Given the description of an element on the screen output the (x, y) to click on. 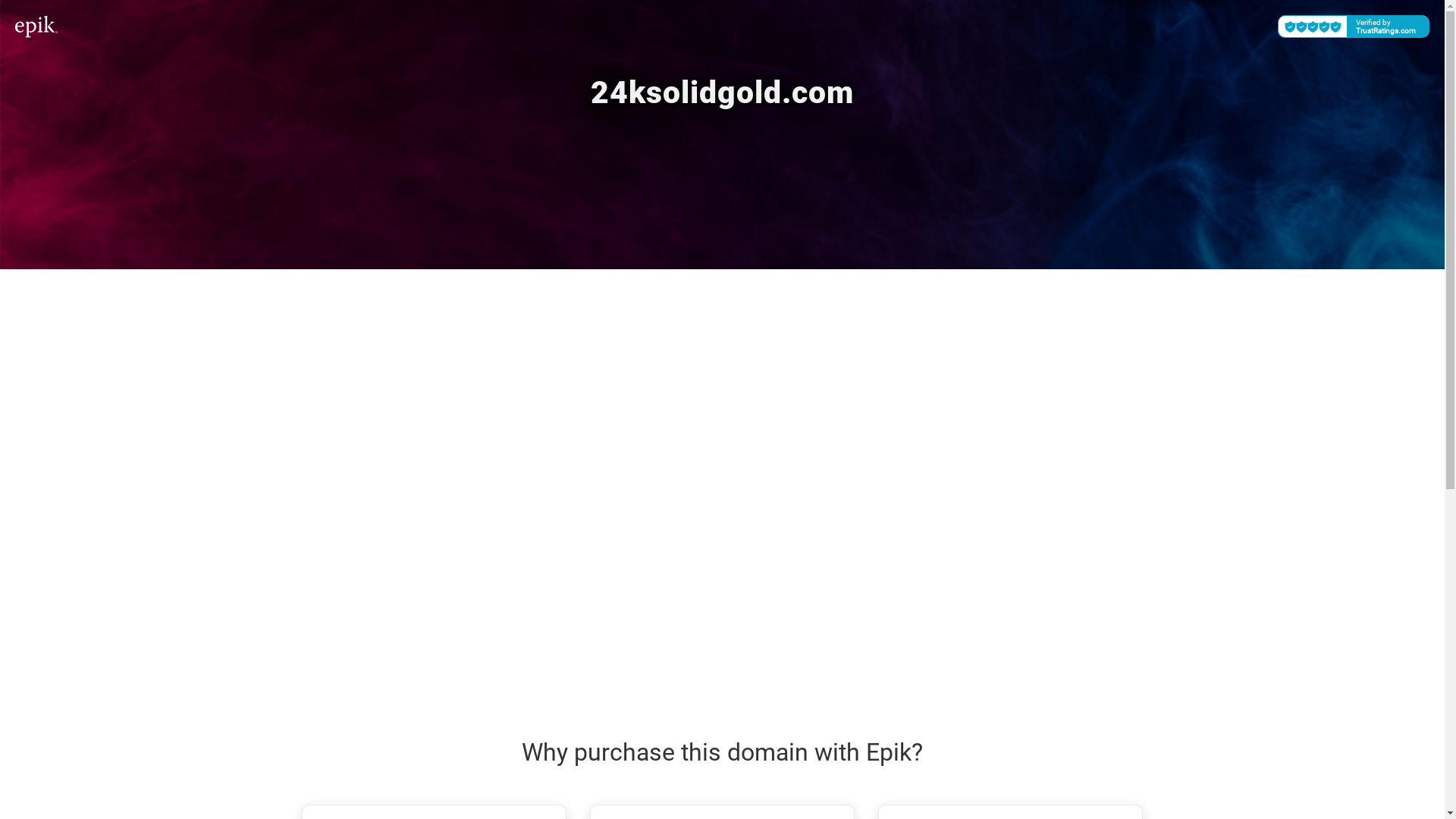
Verified by TrustRatings.com Element type: hover (1353, 26)
